Given the description of an element on the screen output the (x, y) to click on. 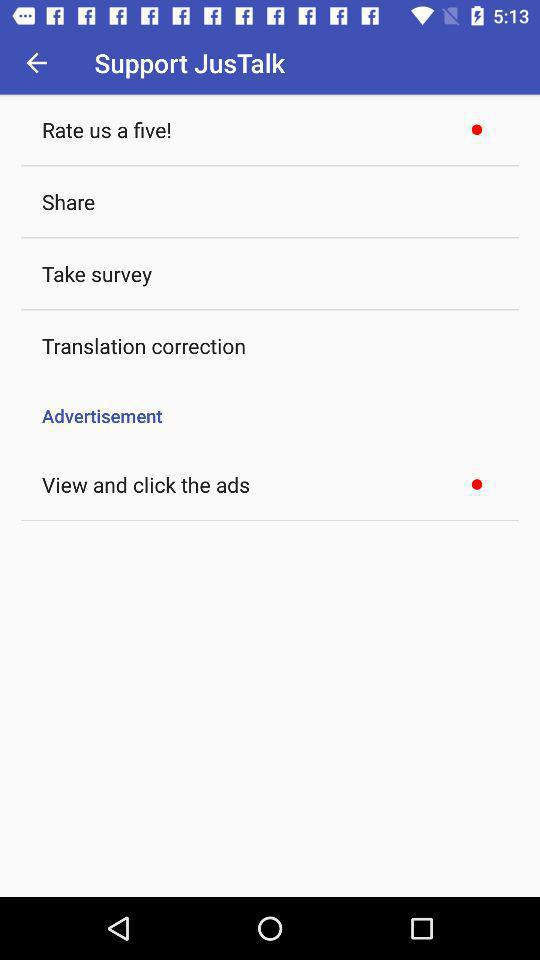
launch item above the rate us a icon (36, 62)
